Given the description of an element on the screen output the (x, y) to click on. 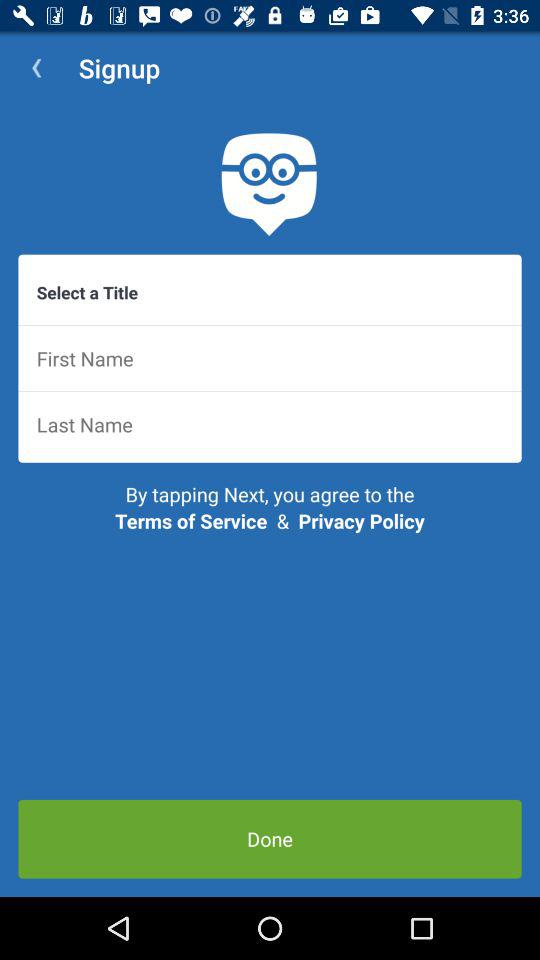
enter name (269, 358)
